Given the description of an element on the screen output the (x, y) to click on. 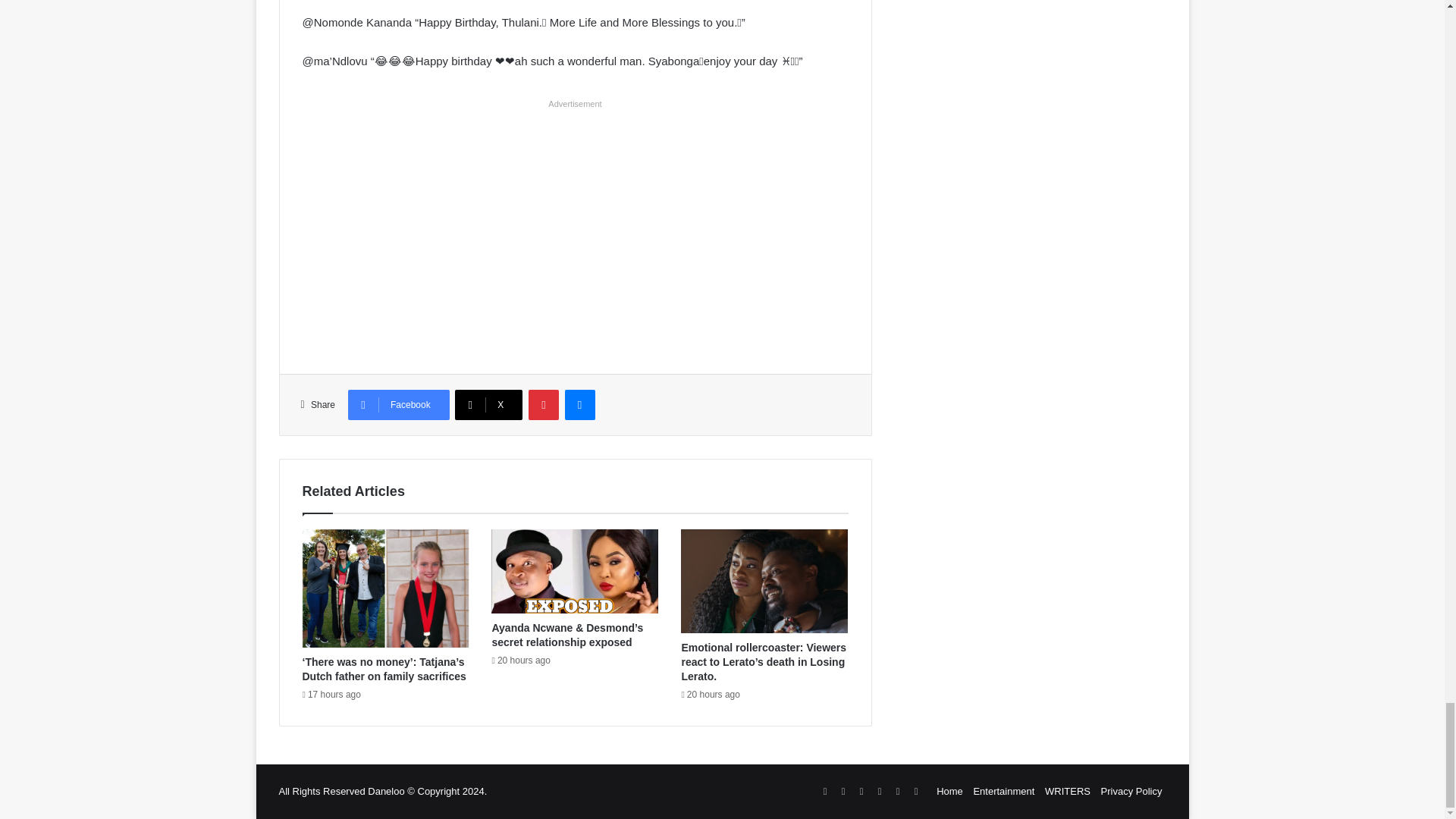
Messenger (579, 404)
X (488, 404)
Facebook (398, 404)
Pinterest (543, 404)
Pinterest (543, 404)
Facebook (398, 404)
Messenger (579, 404)
X (488, 404)
